Given the description of an element on the screen output the (x, y) to click on. 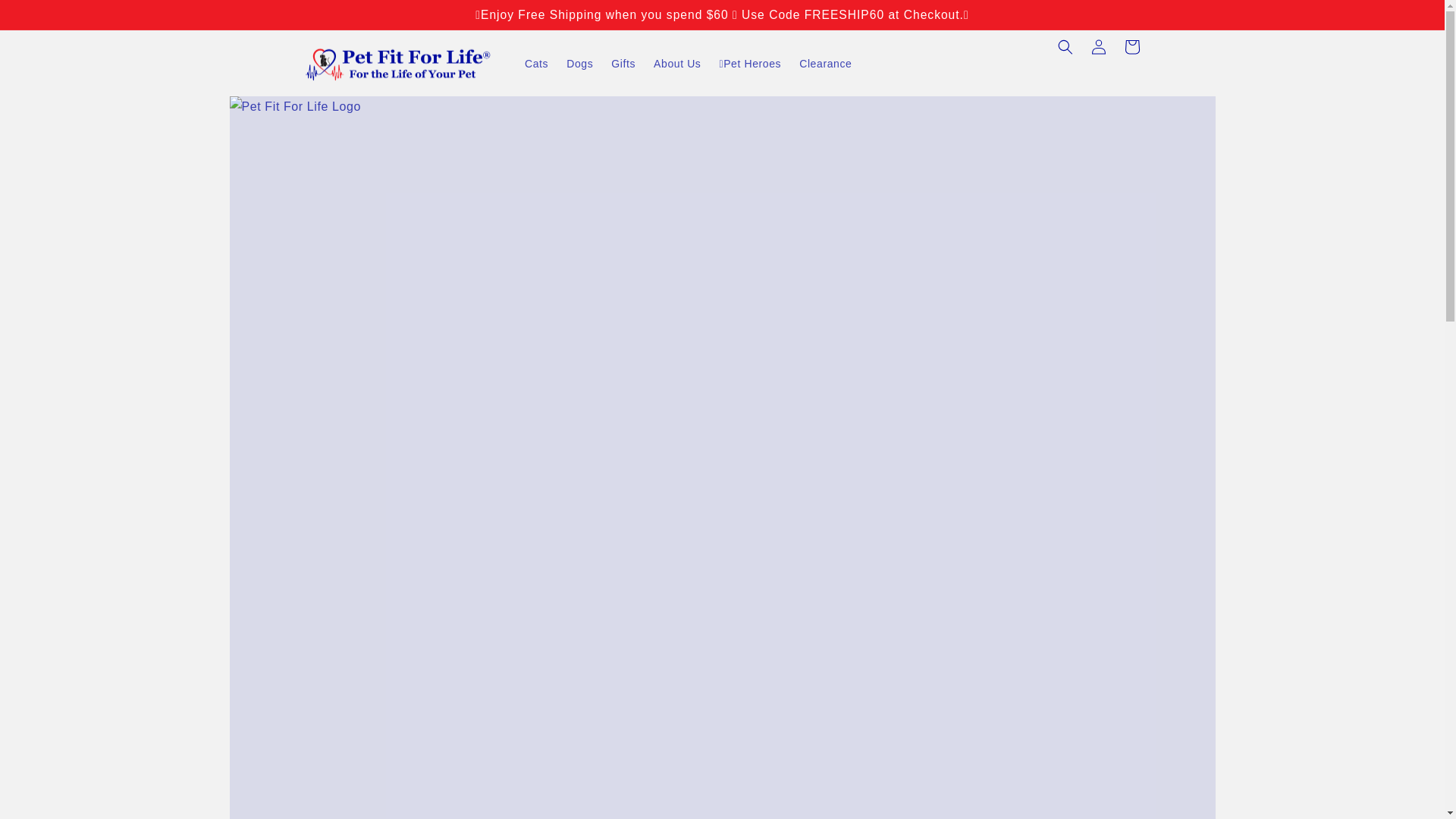
Clearance (825, 63)
Log in (1098, 46)
Gifts (623, 63)
Skip to content (45, 17)
Cart (1131, 46)
Dogs (579, 63)
Cats (536, 63)
About Us (677, 63)
